Given the description of an element on the screen output the (x, y) to click on. 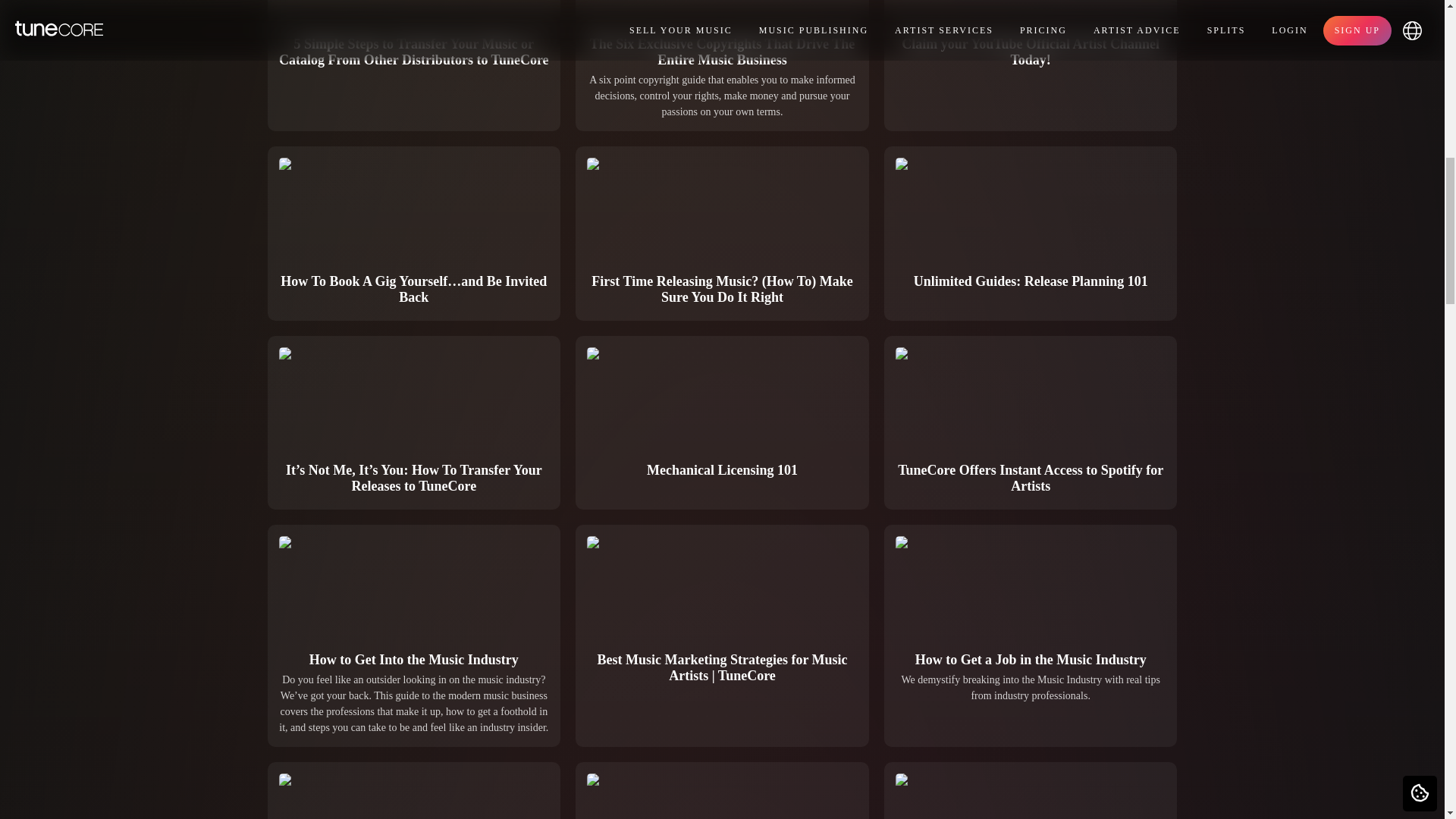
Unlimited Guides: Release Planning 101 (1030, 233)
Claim your YouTube Official Artist Channel Today! (1030, 65)
Mechanical Licensing 101 (722, 422)
TuneCore Offers Instant Access to Spotify for Artists (1030, 422)
